Given the description of an element on the screen output the (x, y) to click on. 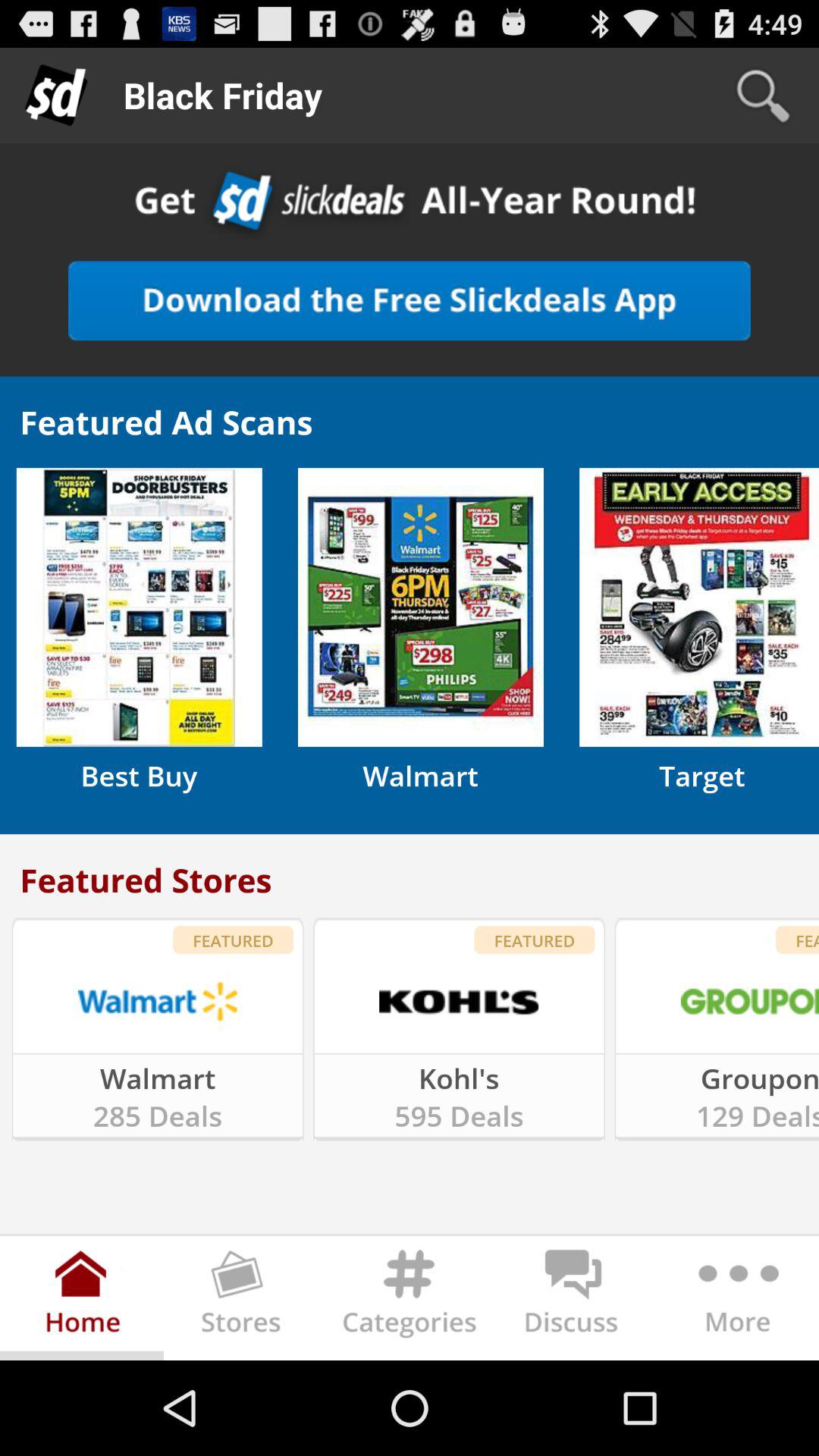
more options (736, 1300)
